Given the description of an element on the screen output the (x, y) to click on. 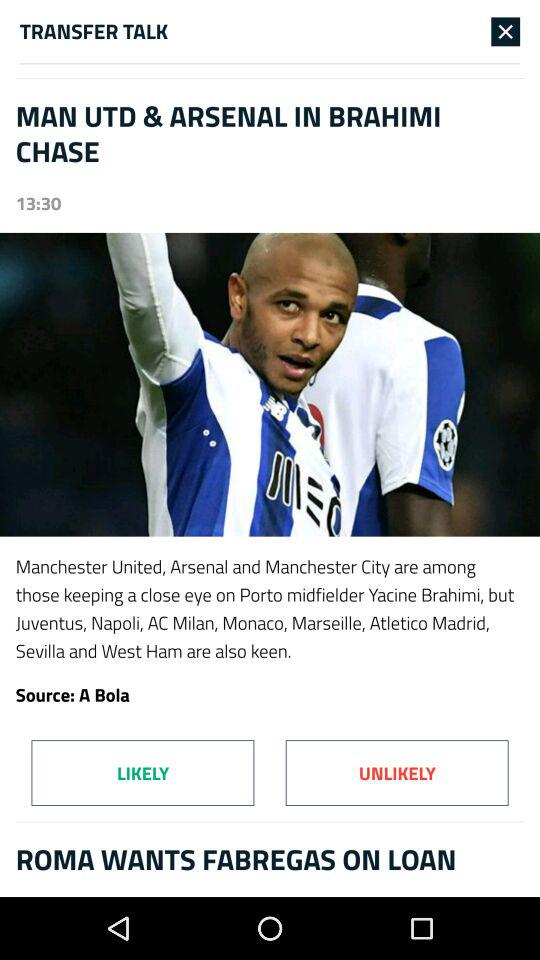
open item to the right of the transfer talk item (505, 31)
